Given the description of an element on the screen output the (x, y) to click on. 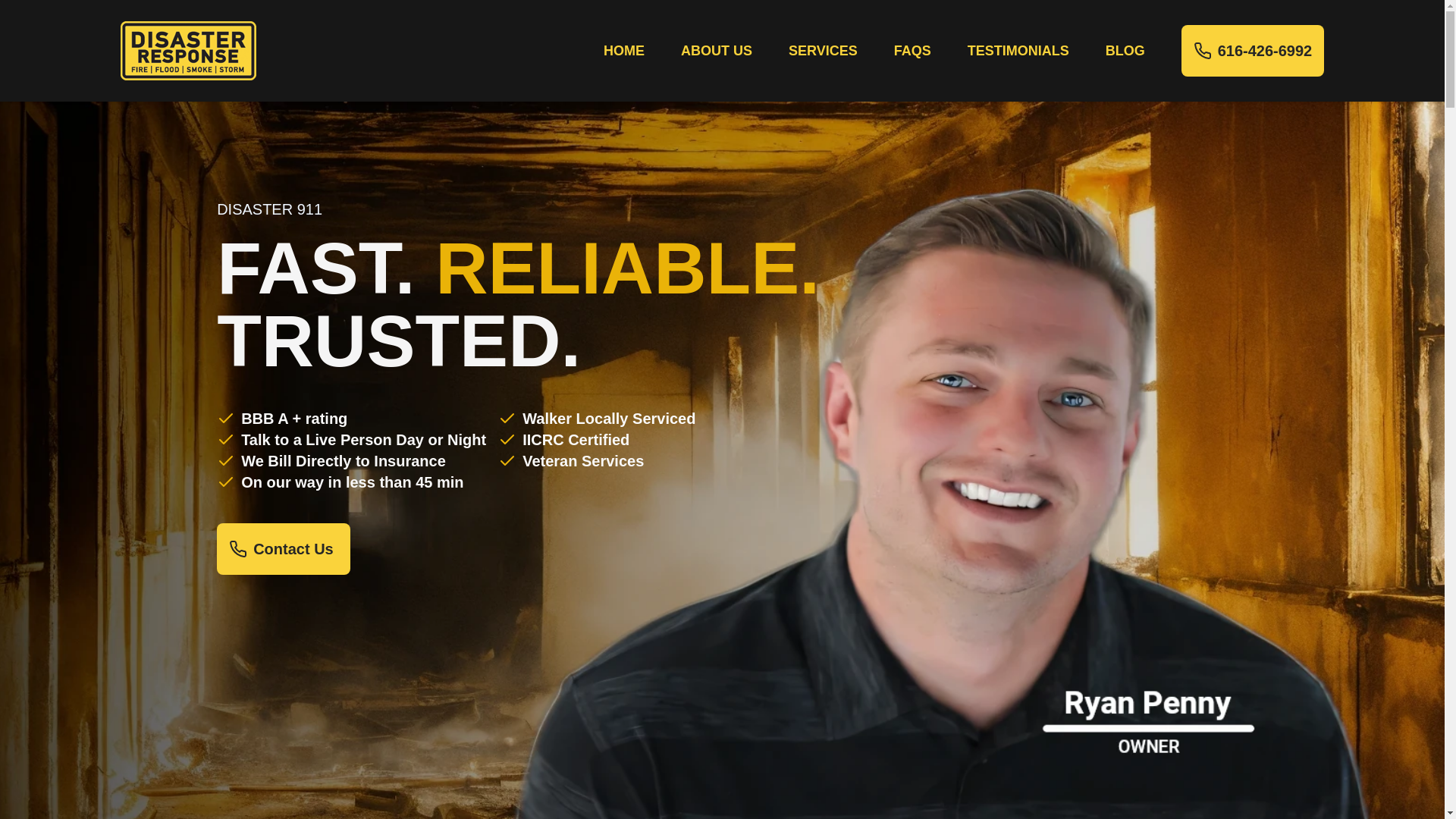
SERVICES (823, 50)
HOME (624, 50)
FAQS (912, 50)
BLOG (1124, 50)
616-426-6992 (1252, 50)
TESTIMONIALS (1018, 50)
ABOUT US (716, 50)
